Given the description of an element on the screen output the (x, y) to click on. 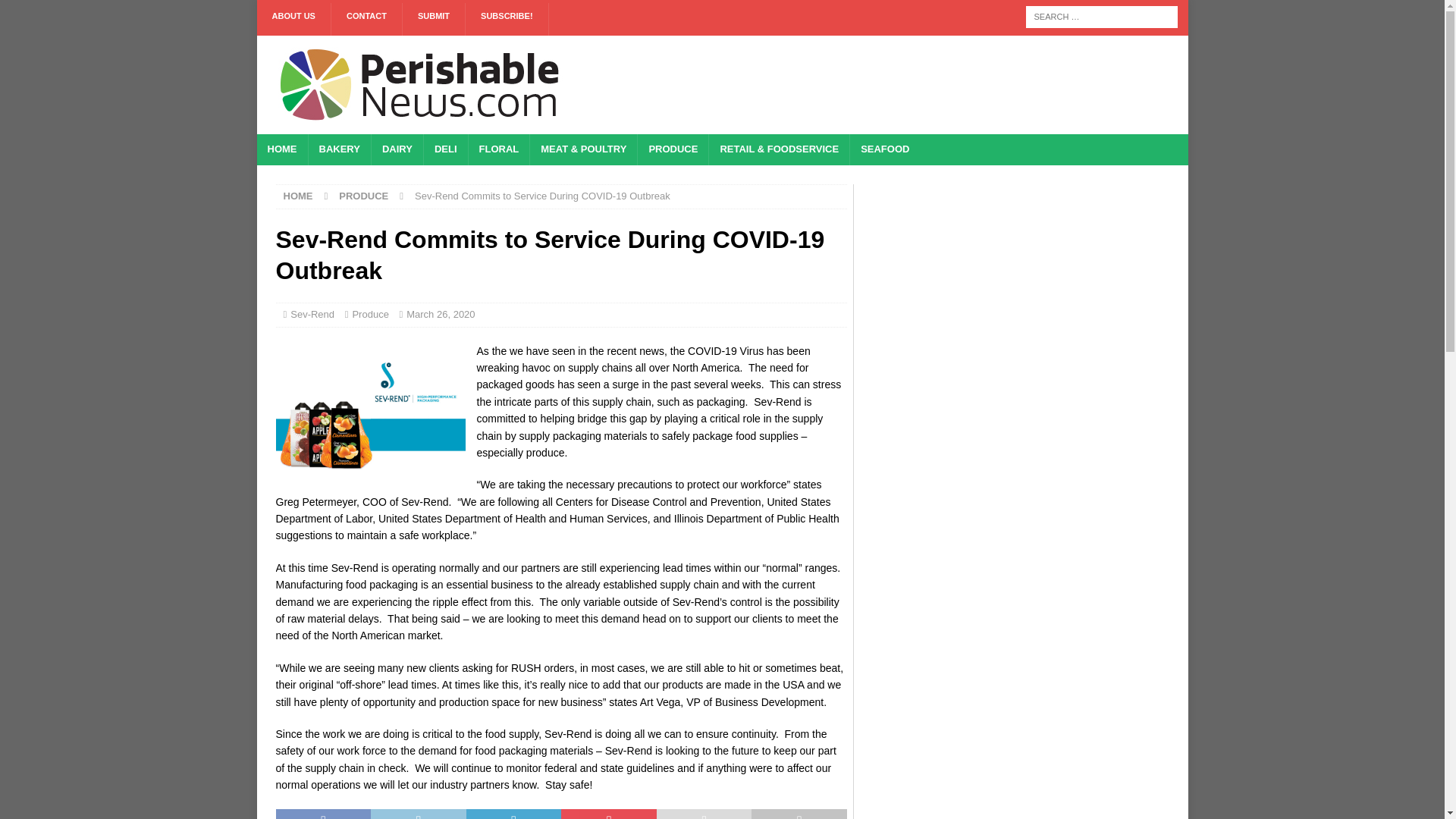
Search (56, 11)
HOME (281, 149)
FLORAL (498, 149)
March 26, 2020 (440, 314)
SUBMIT (434, 19)
DELI (445, 149)
DAIRY (397, 149)
SEAFOOD (884, 149)
PRODUCE (363, 195)
Sev-Rend (311, 314)
